Given the description of an element on the screen output the (x, y) to click on. 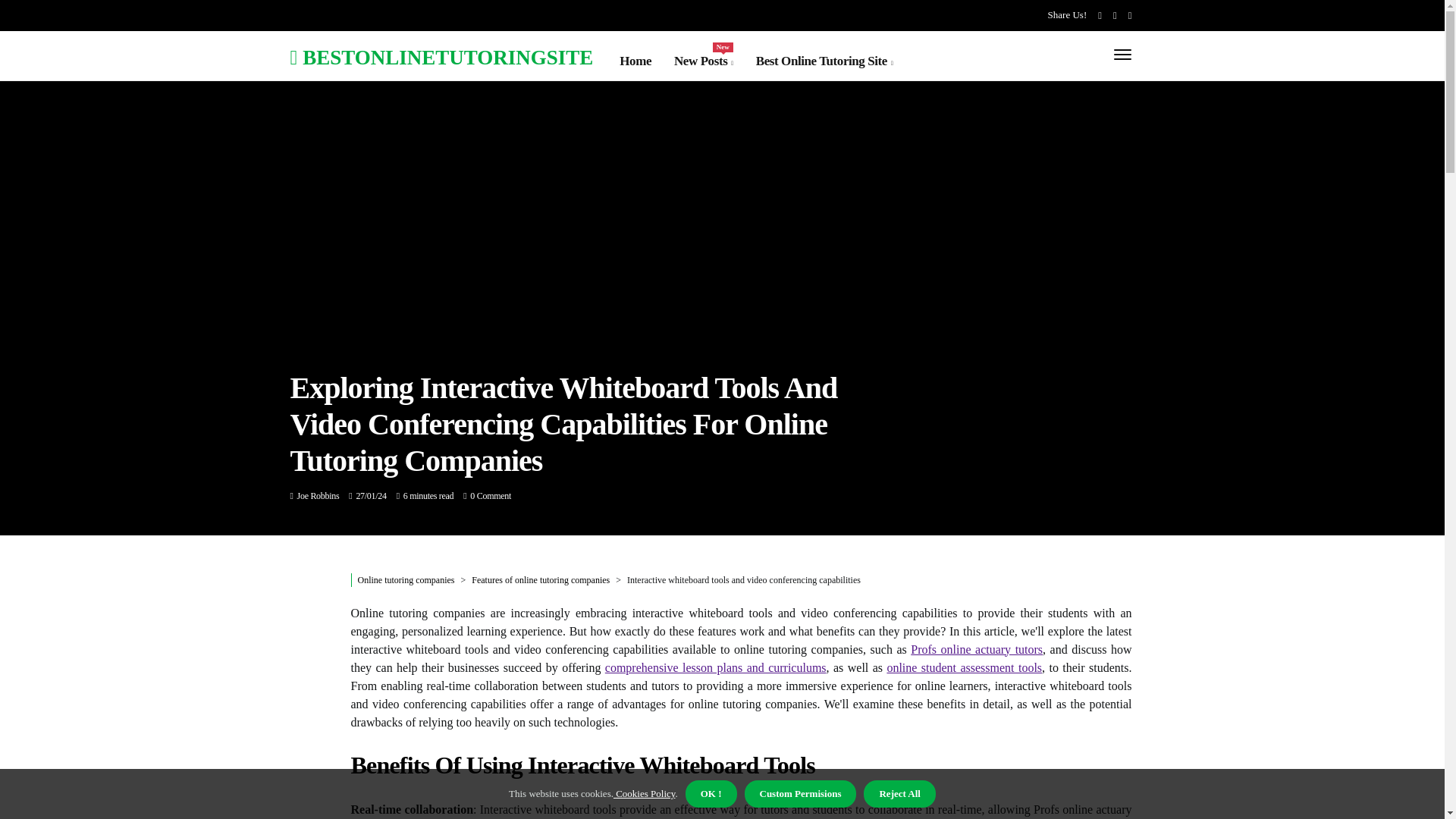
Best Online Tutoring Site (824, 61)
Posts by Joe Robbins (318, 495)
BESTONLINETUTORINGSITE (440, 56)
